Given the description of an element on the screen output the (x, y) to click on. 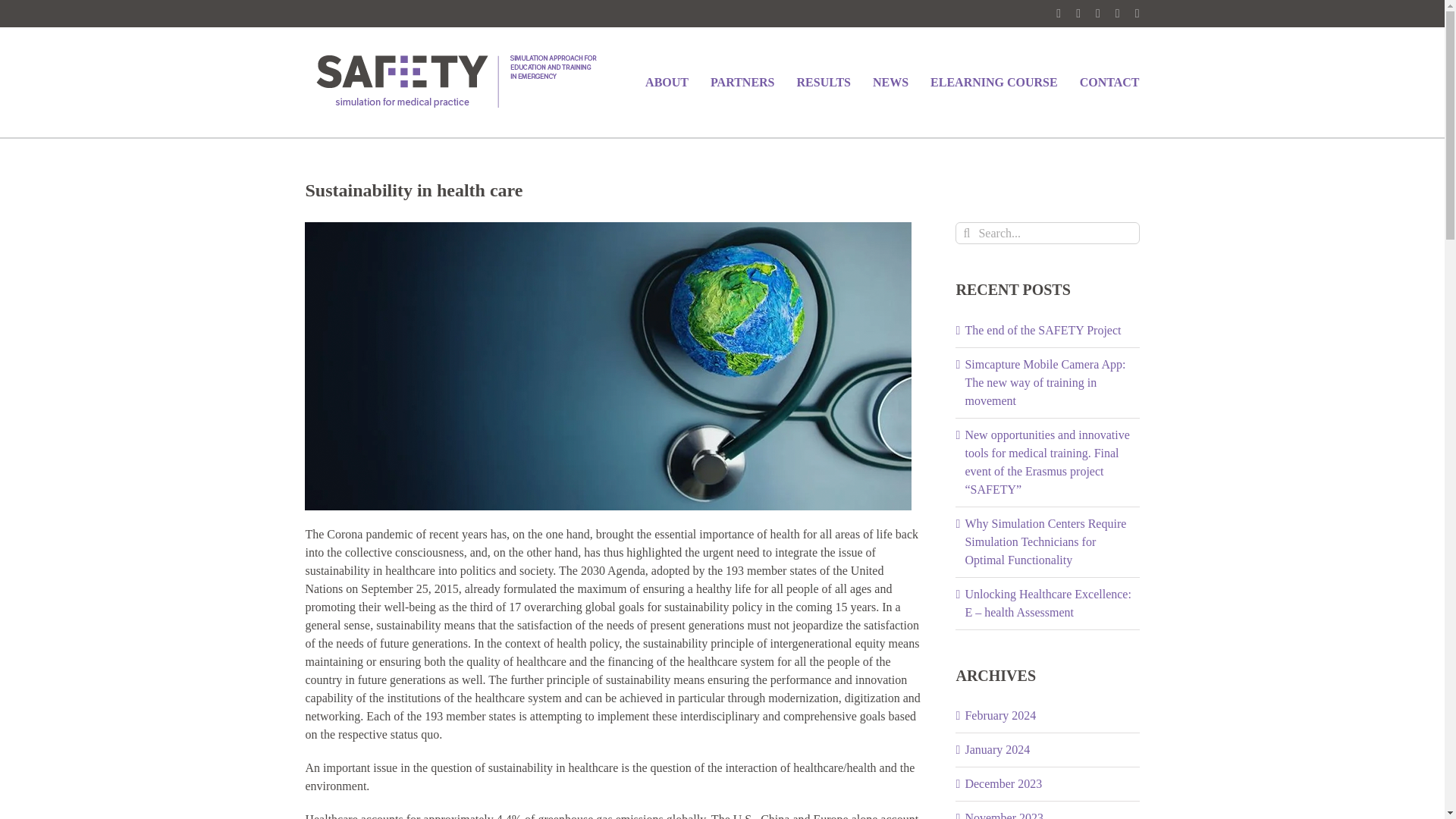
ELEARNING COURSE (994, 81)
December 2023 (1002, 783)
February 2024 (999, 715)
The end of the SAFETY Project (1042, 329)
January 2024 (996, 748)
November 2023 (1003, 815)
